Given the description of an element on the screen output the (x, y) to click on. 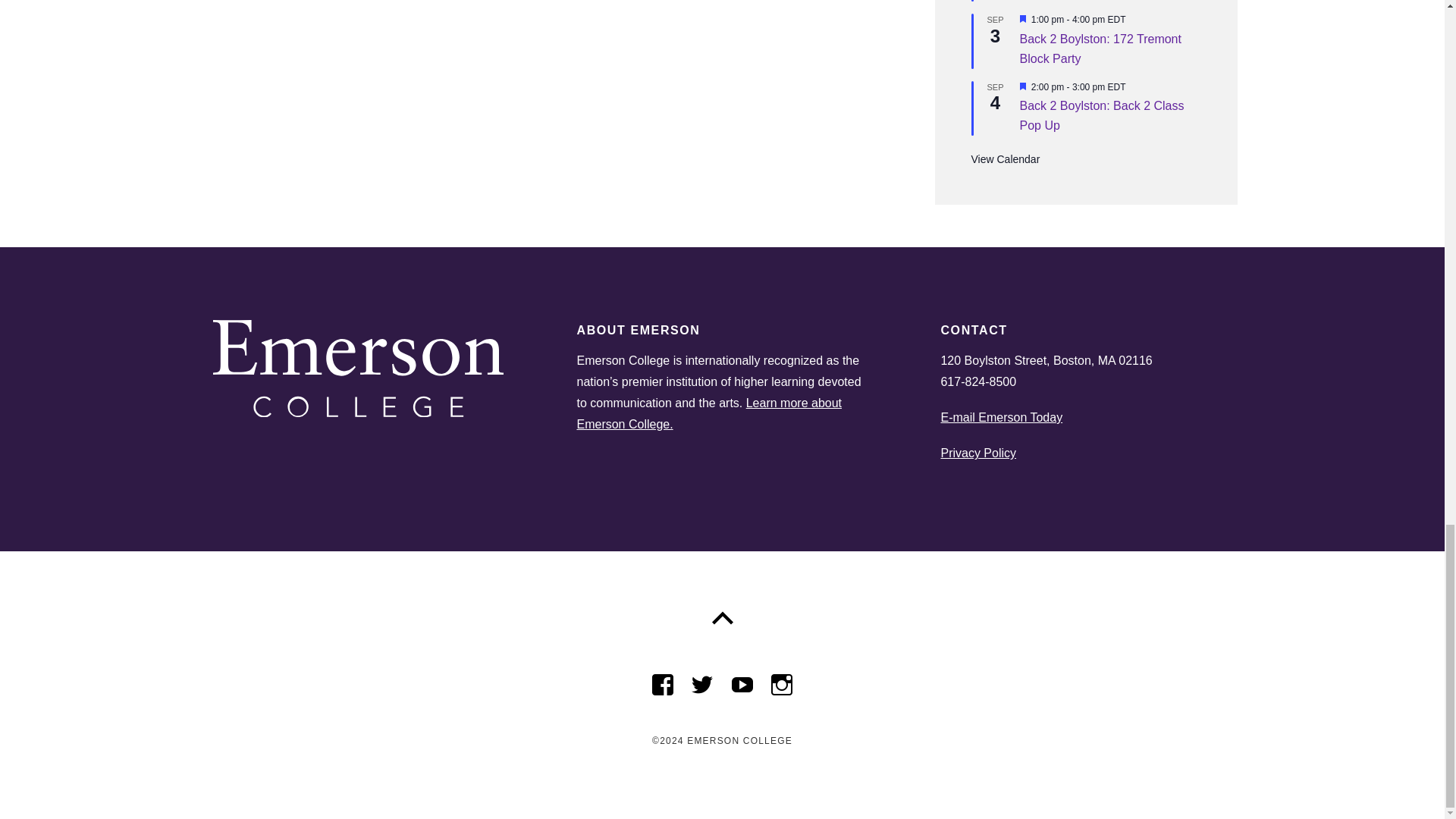
Back 2 Boylston: Back 2 Class Pop Up (1101, 115)
Back 2 Boylston: 172 Tremont Block Party (1099, 49)
View more events. (1005, 159)
